Given the description of an element on the screen output the (x, y) to click on. 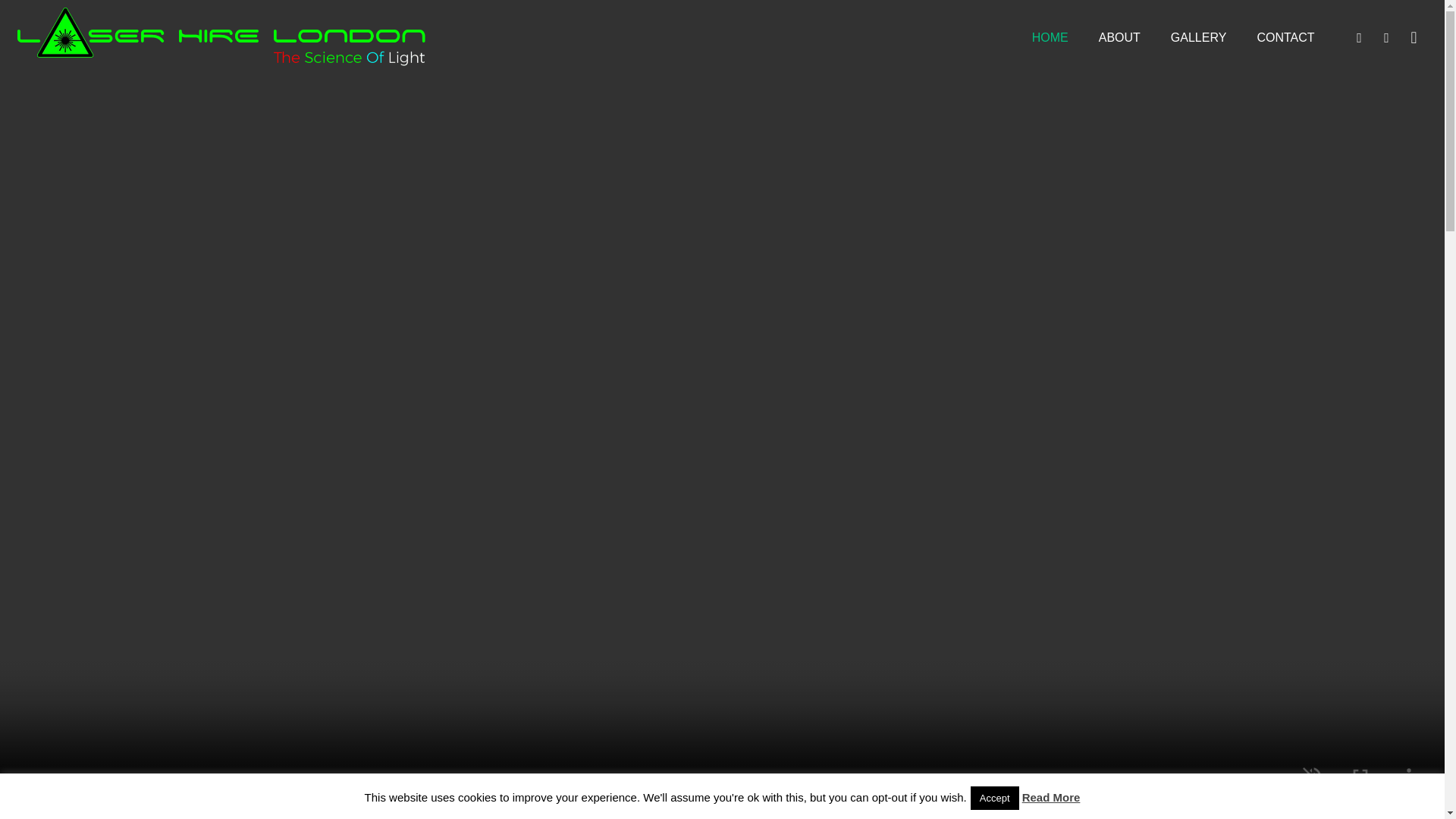
CONTACT (1285, 38)
ABOUT (1119, 38)
GALLERY (1198, 38)
Read More (1051, 797)
Accept (995, 797)
